Given the description of an element on the screen output the (x, y) to click on. 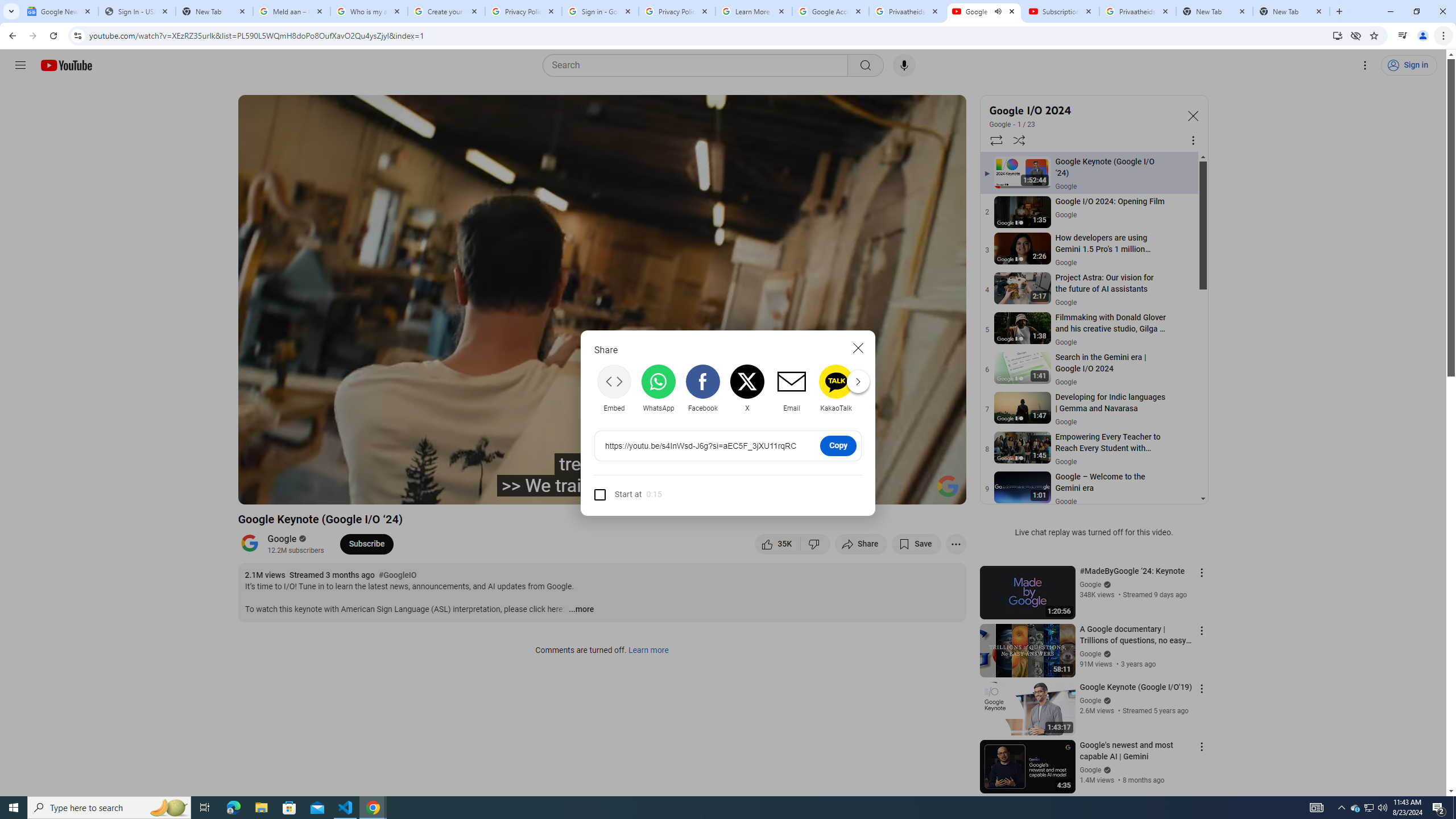
Facebook (702, 388)
Mute (m) (338, 490)
Verified (1106, 769)
Email (790, 388)
Full screen (f) (945, 490)
Loop playlist (995, 140)
Cancel (857, 347)
Action menu (1200, 746)
